Given the description of an element on the screen output the (x, y) to click on. 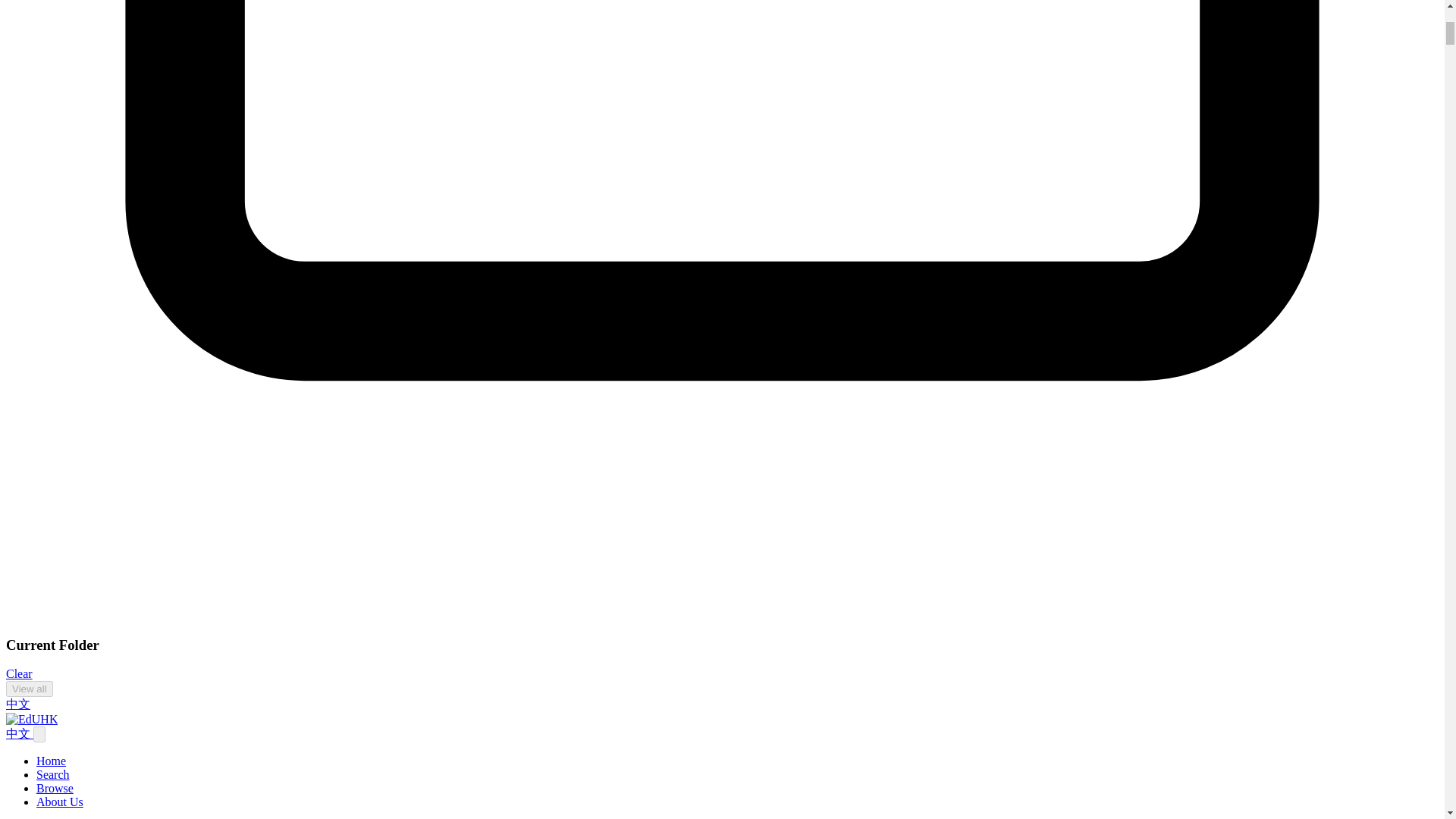
Clear (18, 673)
Browse (55, 788)
View all (28, 688)
Home (50, 760)
About Us (59, 801)
Search (52, 774)
